Given the description of an element on the screen output the (x, y) to click on. 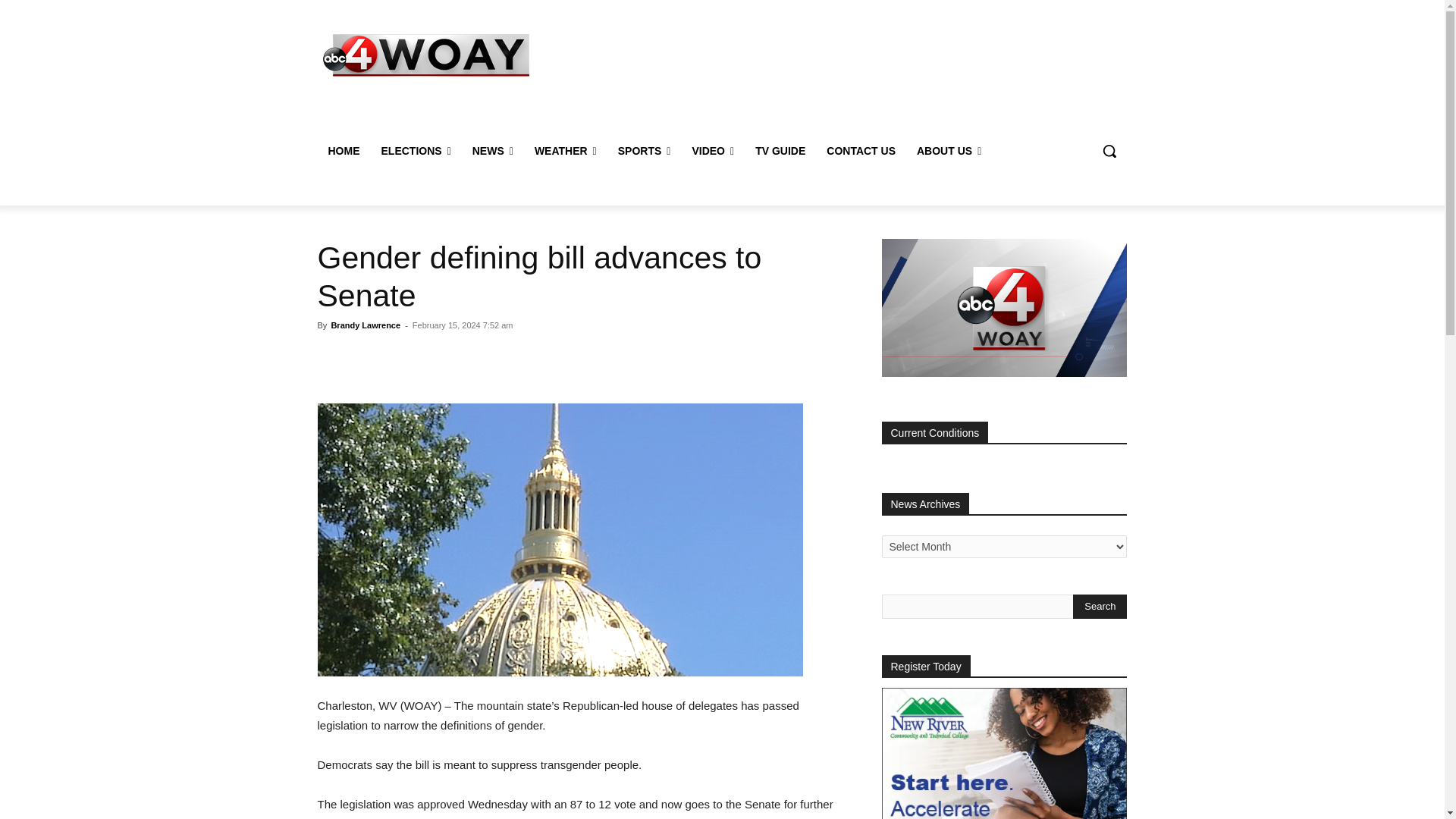
Search (1099, 606)
WOAY News (426, 55)
WOAY News (425, 55)
